Given the description of an element on the screen output the (x, y) to click on. 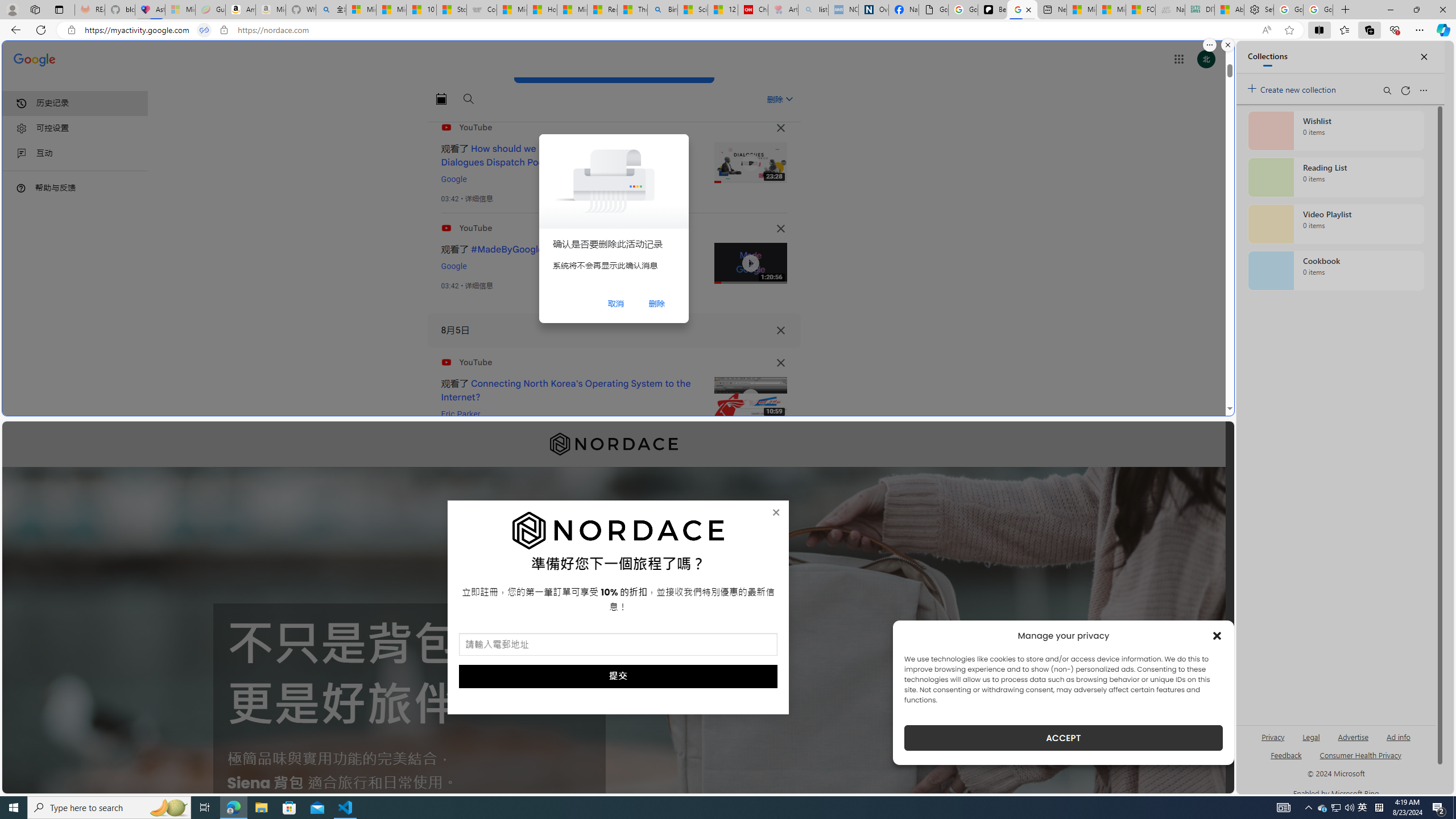
Class: i2GIId (21, 153)
Class: DTiKkd NMm5M (21, 188)
ACCEPT (1063, 737)
